Given the description of an element on the screen output the (x, y) to click on. 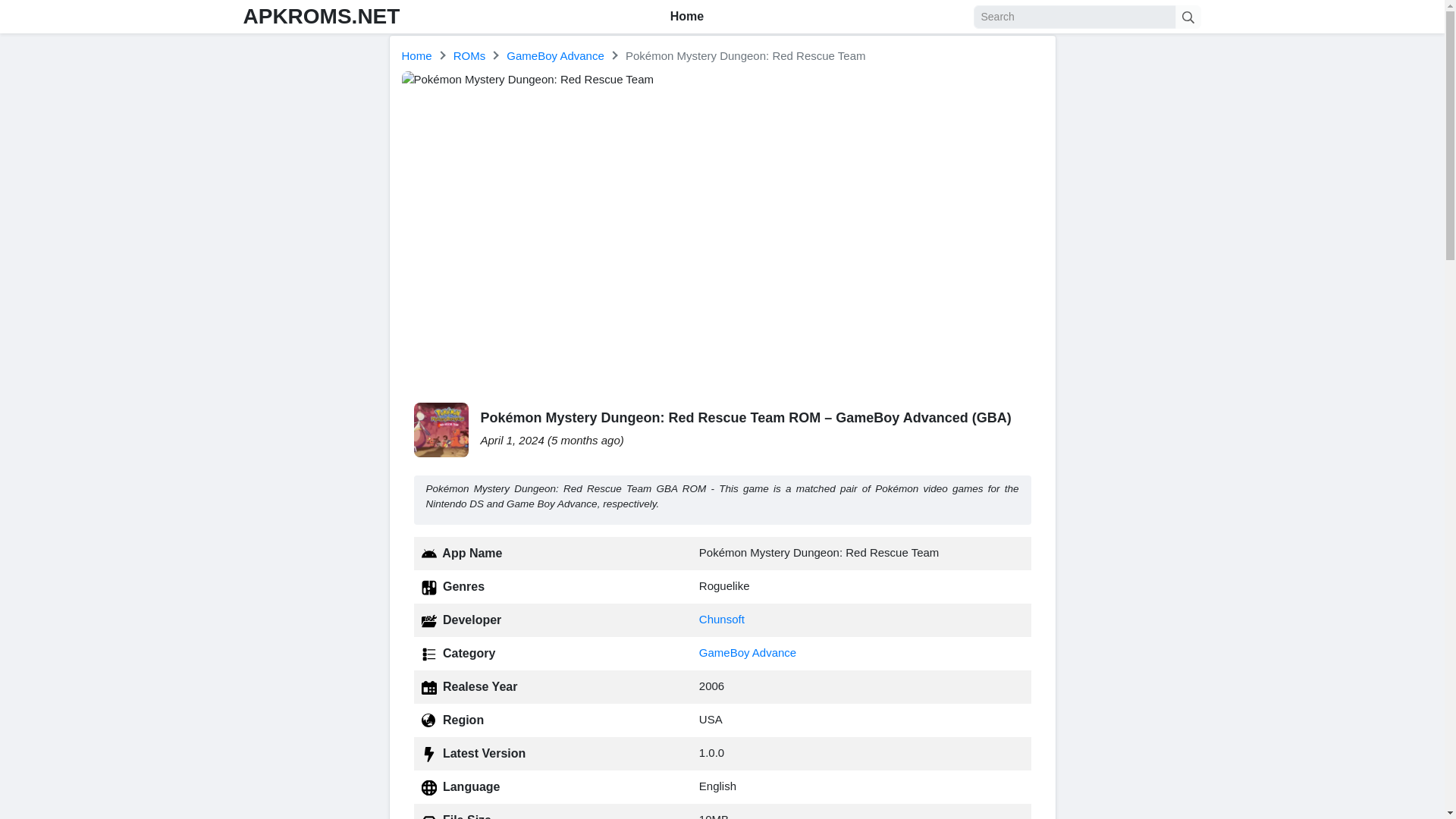
GameBoy Advance (555, 55)
Chunsoft (721, 618)
ROMs (469, 55)
APKROMS.NET (320, 15)
GameBoy Advance (747, 652)
Home (416, 55)
Home (416, 55)
Home (687, 16)
